Given the description of an element on the screen output the (x, y) to click on. 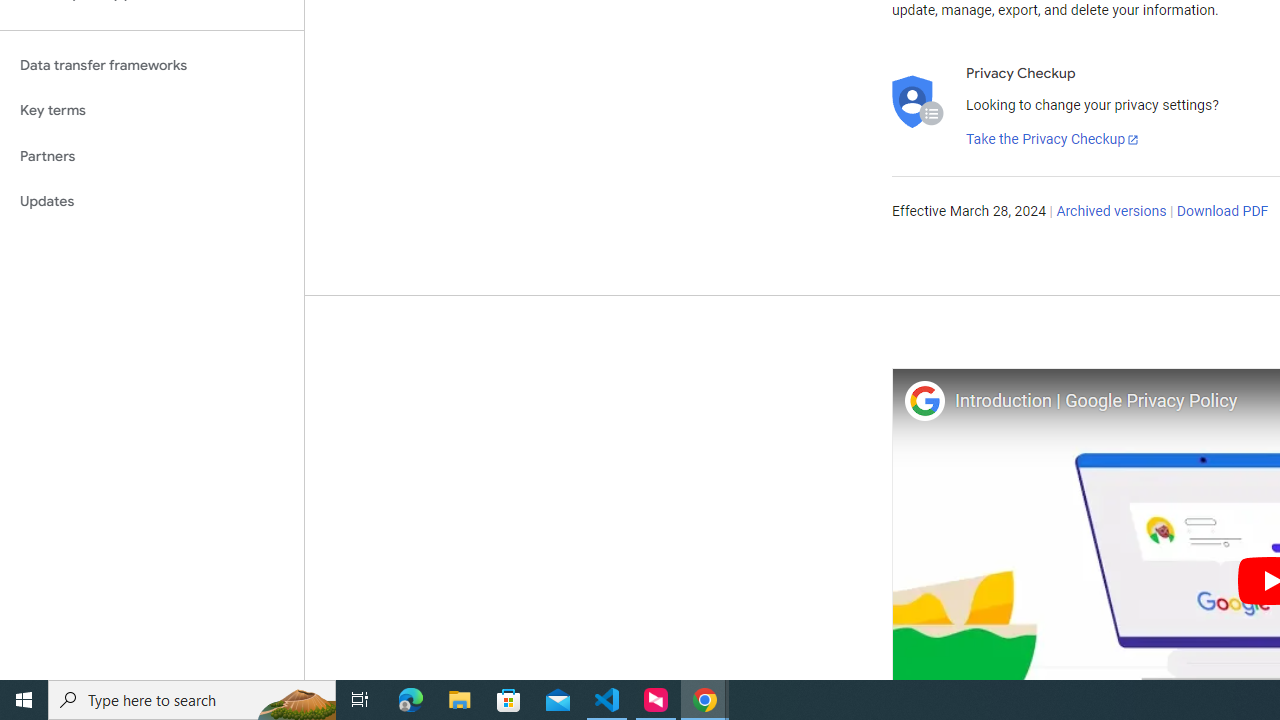
Photo image of Google (924, 400)
Take the Privacy Checkup (1053, 140)
